Given the description of an element on the screen output the (x, y) to click on. 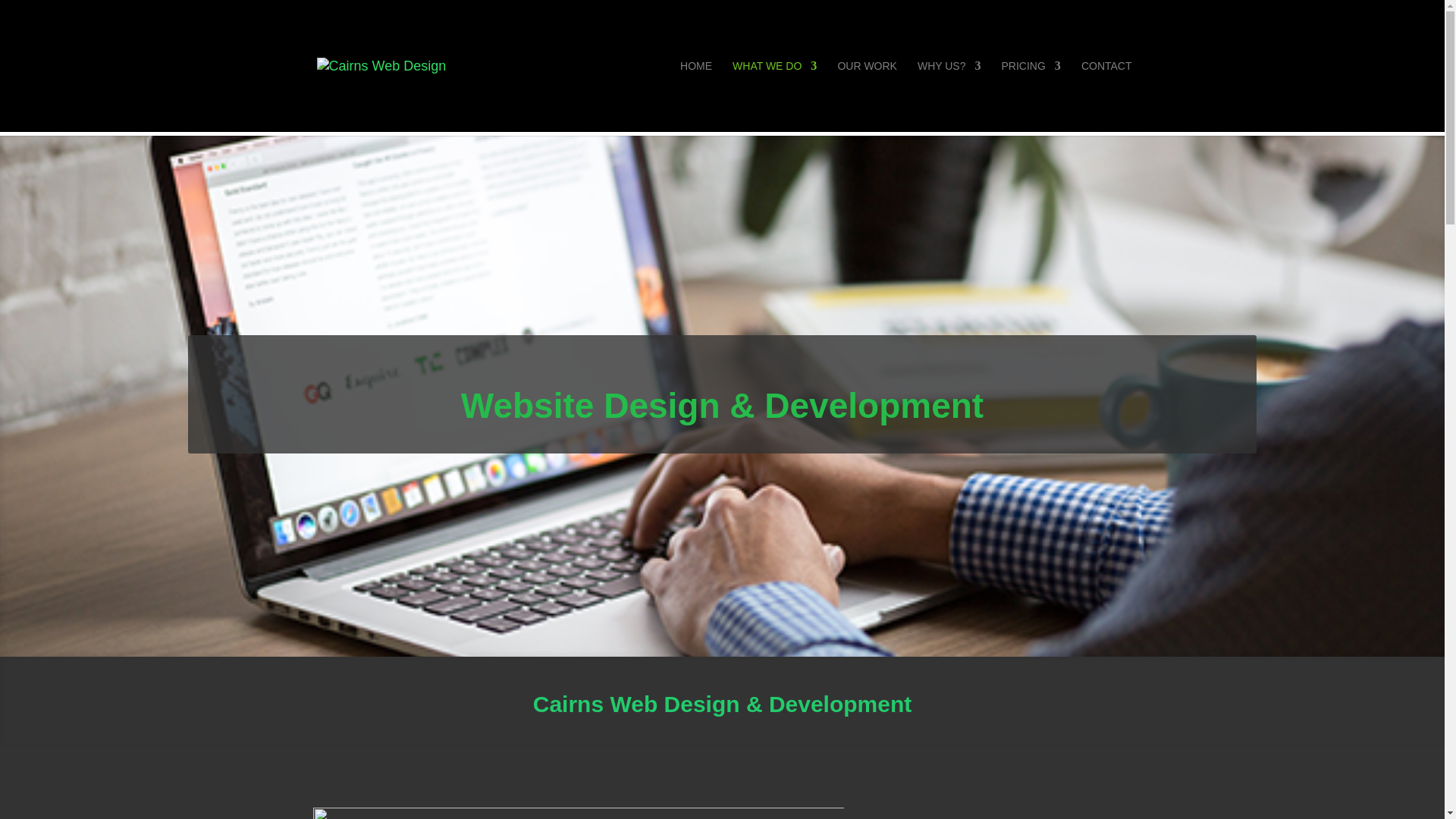
PRICING (1031, 95)
WHAT WE DO (774, 95)
OUR WORK (866, 95)
WHY US? (949, 95)
HOME (695, 95)
CONTACT (1106, 95)
